Given the description of an element on the screen output the (x, y) to click on. 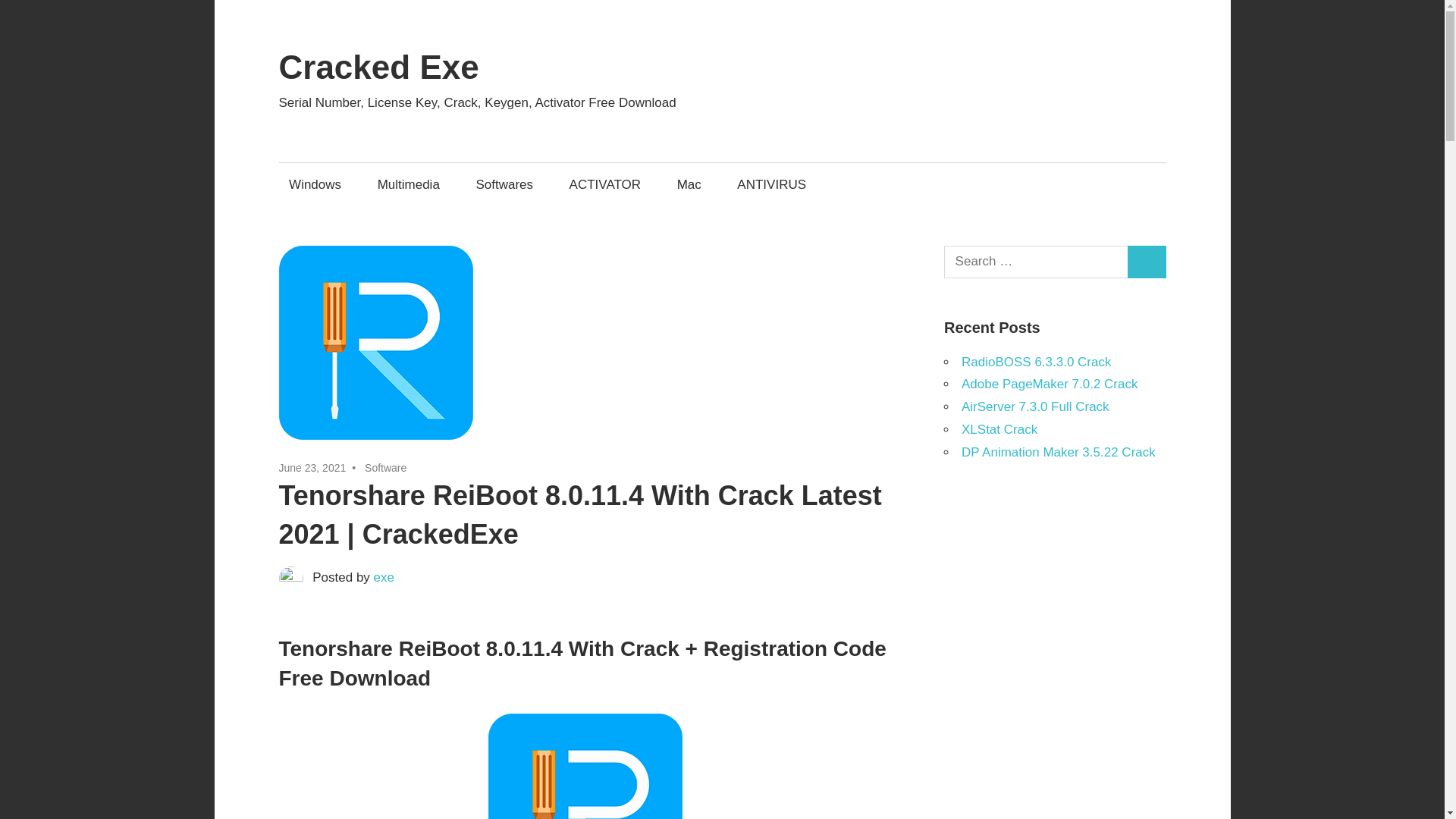
Cracked Exe (379, 66)
RadioBOSS 6.3.3.0 Crack (1035, 361)
ANTIVIRUS (771, 184)
Mac (688, 184)
June 23, 2021 (312, 467)
Multimedia (407, 184)
exe (384, 577)
Search for: (1035, 261)
View all posts by exe (384, 577)
AirServer 7.3.0 Full Crack (1034, 406)
Softwares (504, 184)
DP Animation Maker 3.5.22 Crack (1058, 451)
Search (1146, 261)
ACTIVATOR (604, 184)
Windows (315, 184)
